Given the description of an element on the screen output the (x, y) to click on. 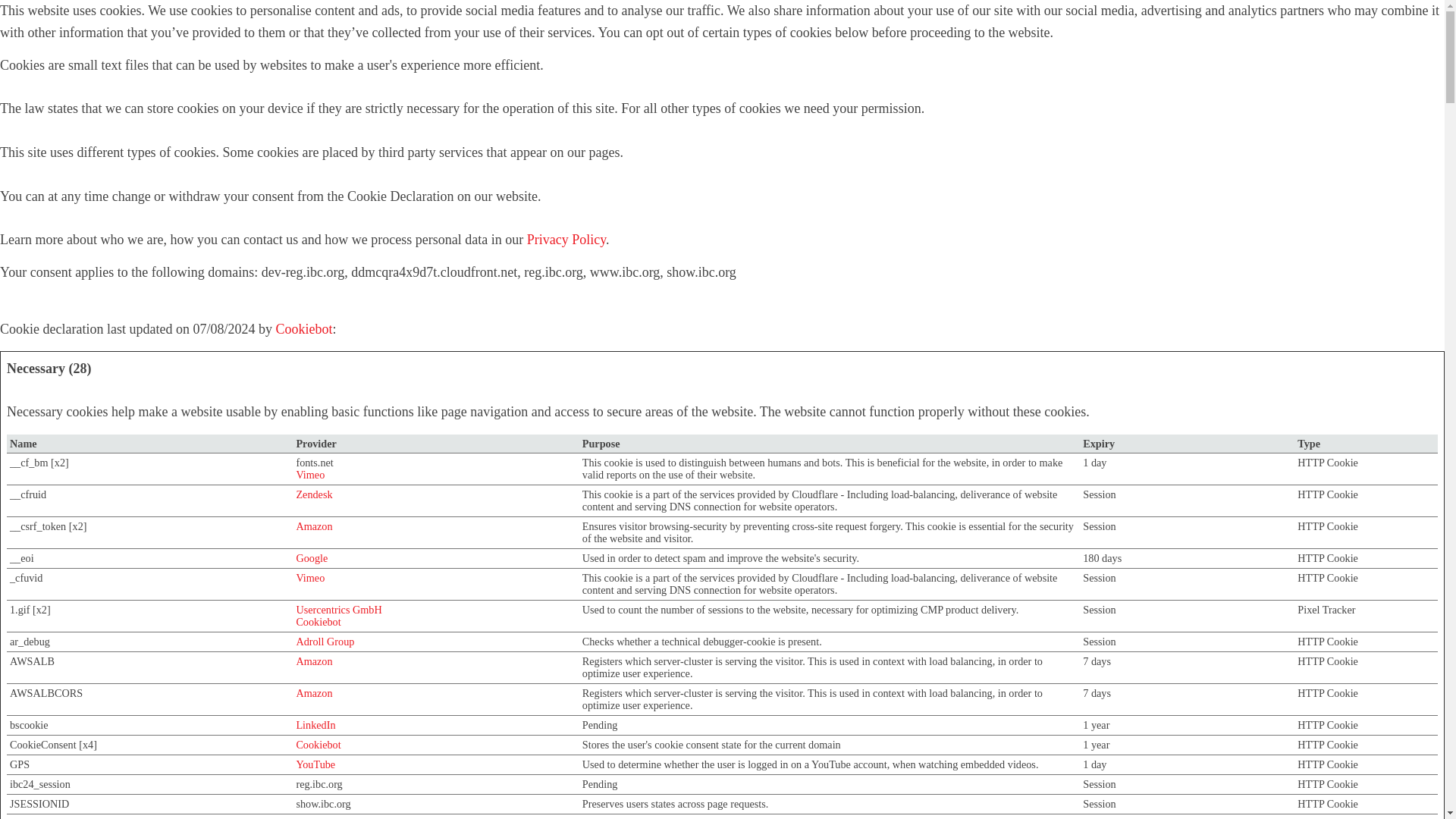
YouTube's privacy policy (314, 764)
Amazon (313, 526)
Cookiebot's privacy policy (317, 744)
Adroll Group's privacy policy (324, 641)
Vimeo (309, 474)
Vimeo (309, 577)
LinkedIn's privacy policy (314, 725)
Cookiebot (317, 744)
LinkedIn's privacy policy (314, 818)
Vimeo's privacy policy (309, 474)
